Given the description of an element on the screen output the (x, y) to click on. 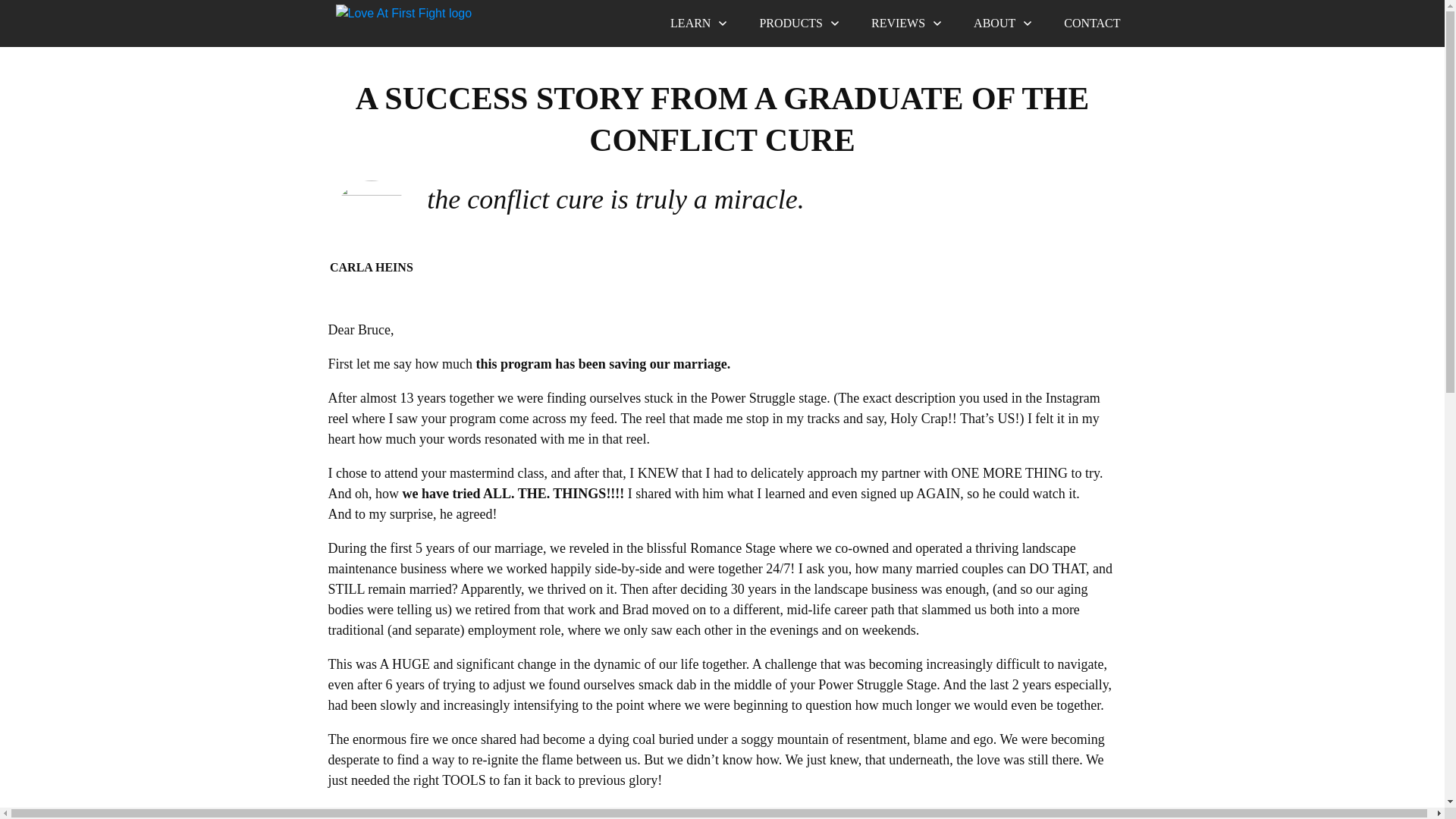
Carla-Heins (371, 218)
LEARN (699, 23)
Get in touch. (1091, 23)
PRODUCTS (799, 23)
ABOUT (1003, 23)
CONTACT (1091, 23)
REVIEWS (906, 23)
